Given the description of an element on the screen output the (x, y) to click on. 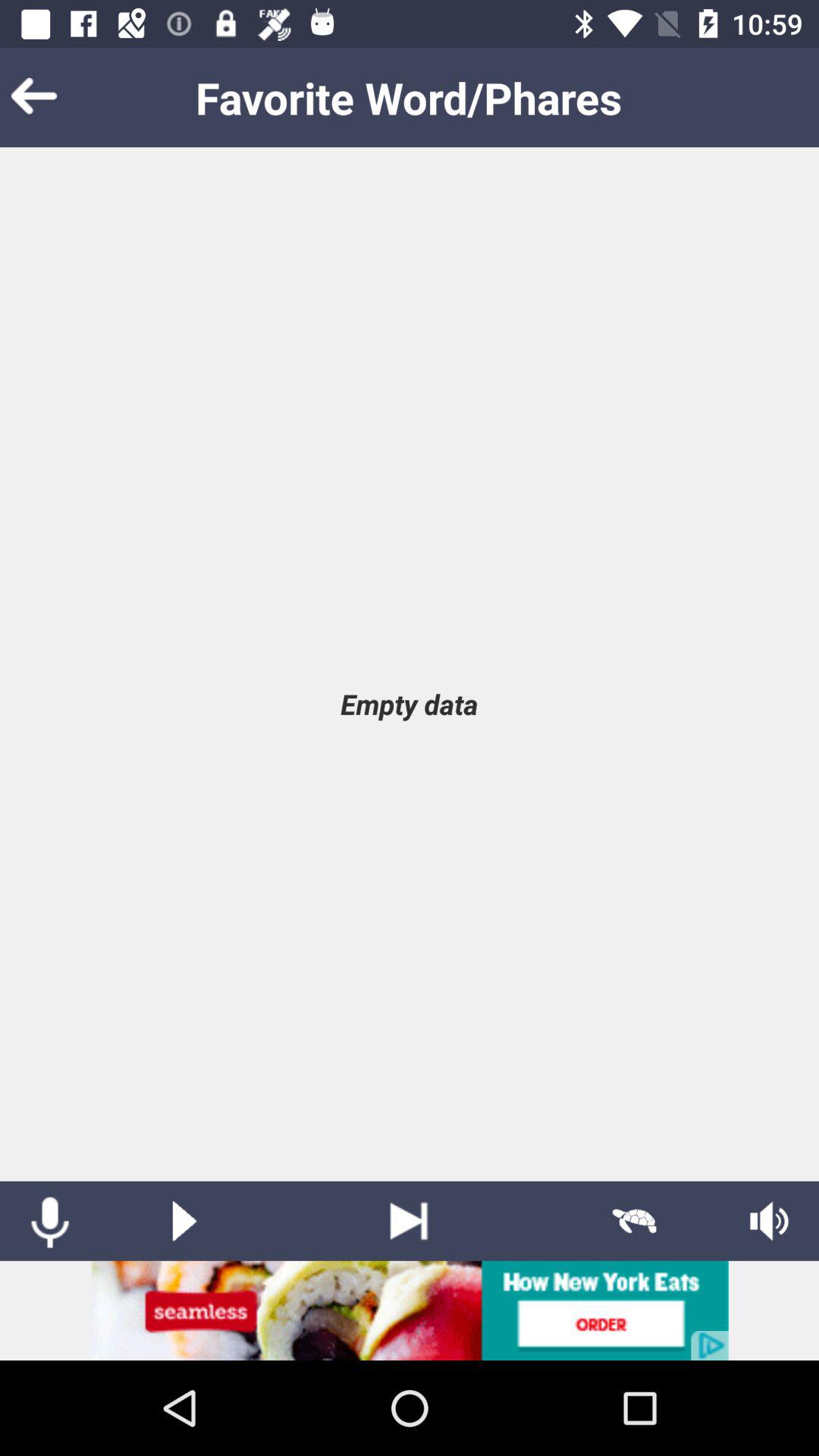
voice commands (49, 1220)
